Given the description of an element on the screen output the (x, y) to click on. 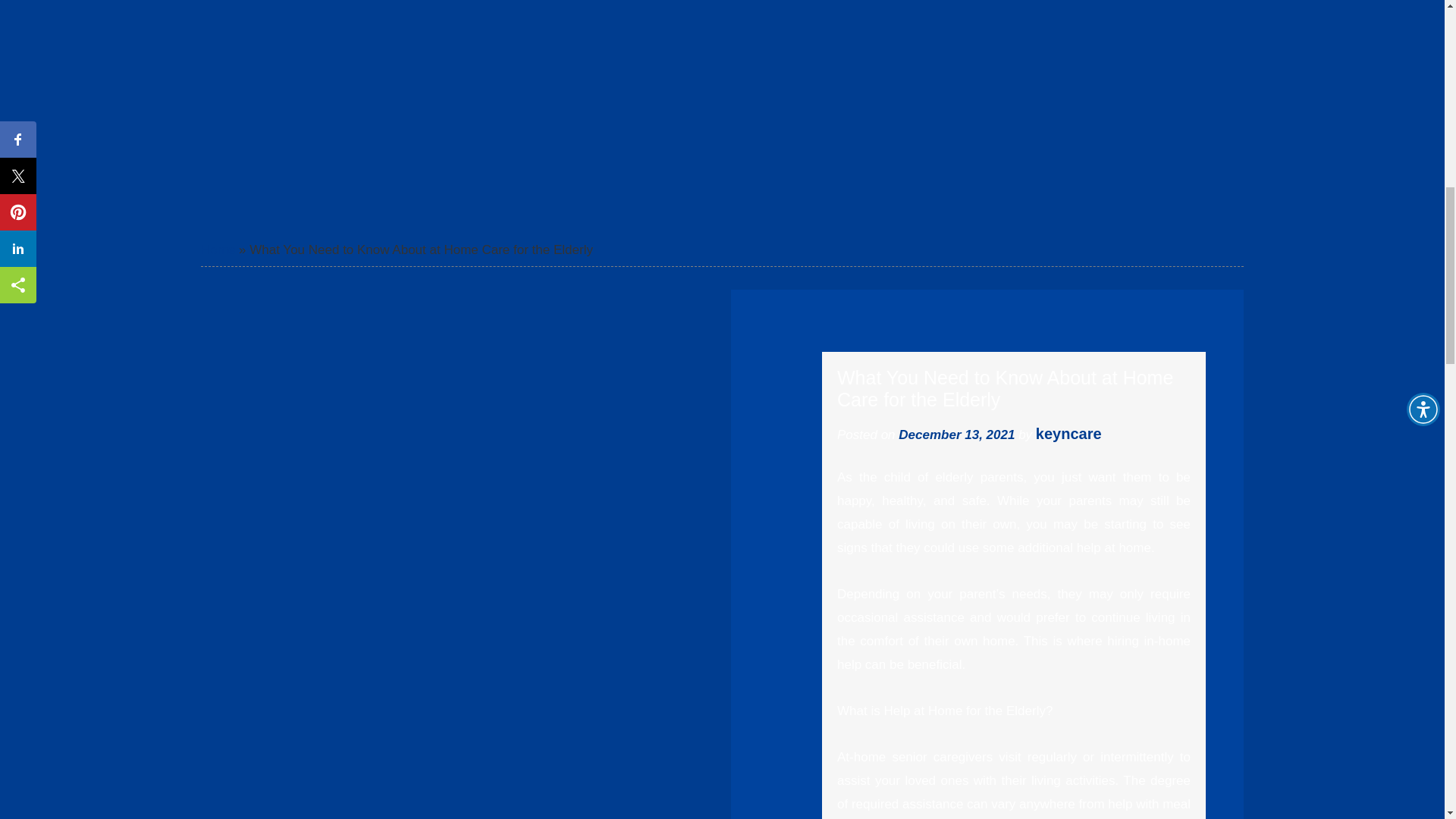
View all posts by keyncare (1068, 433)
keyncare (1068, 433)
December 13, 2021 (956, 434)
Home (217, 249)
5:57 am (956, 434)
